Given the description of an element on the screen output the (x, y) to click on. 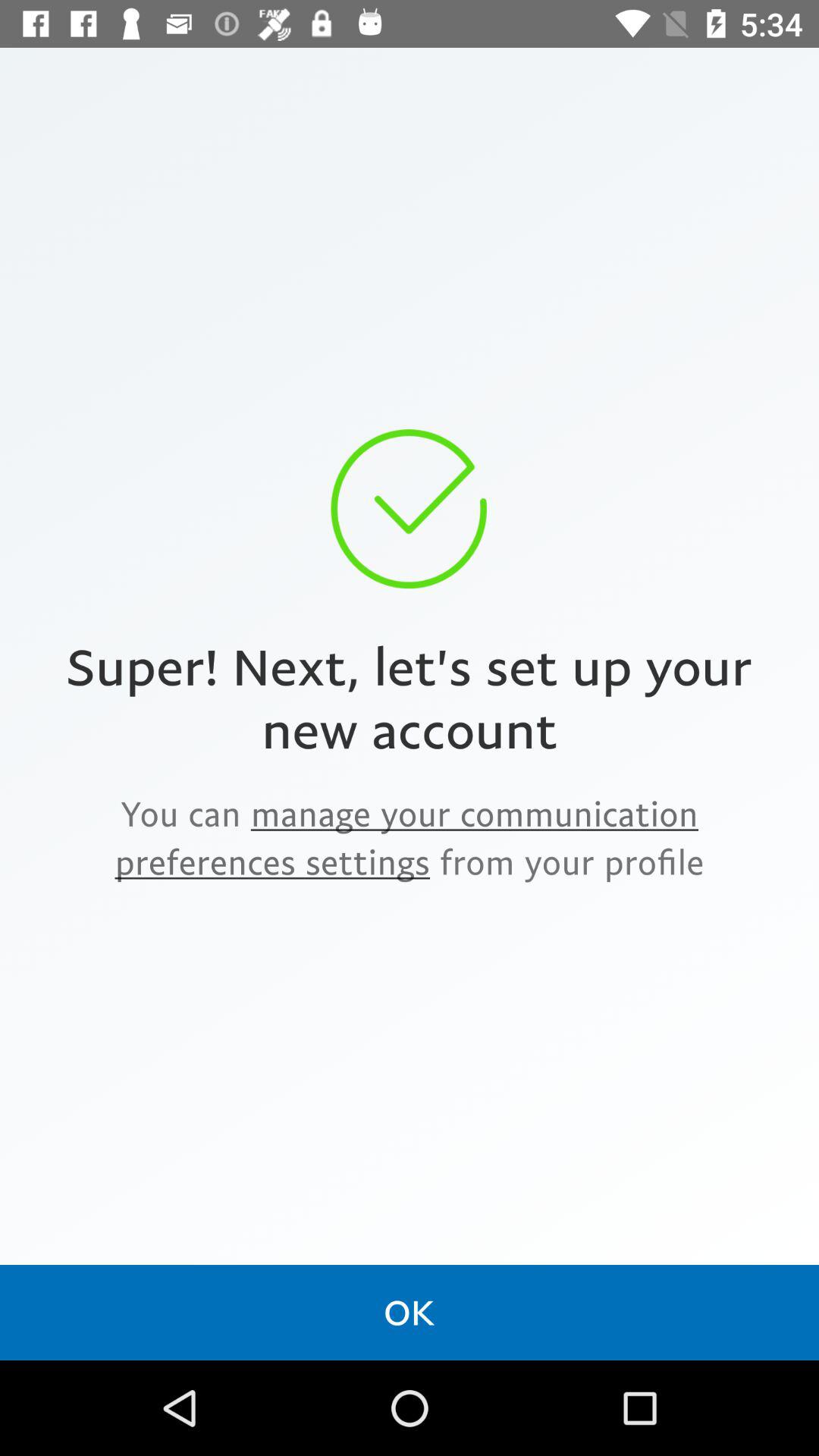
select the item below super next let icon (409, 837)
